Given the description of an element on the screen output the (x, y) to click on. 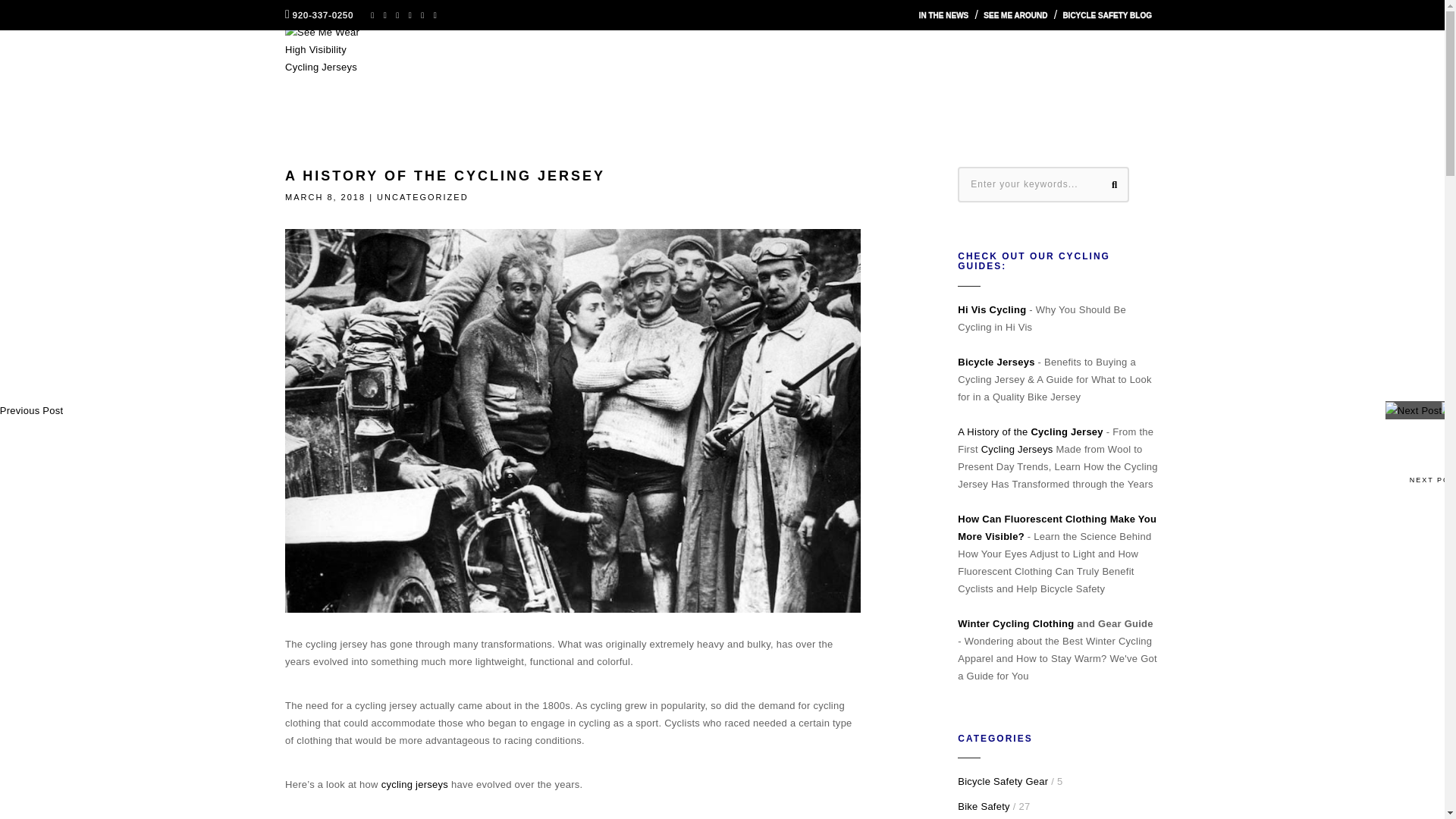
PRODUCTS (599, 52)
TESTIMONIALS (1035, 52)
cycling jerseys (414, 784)
SEE ME AROUND (1015, 15)
HI VIS CYCLING (772, 52)
IN THE NEWS (943, 15)
WHY FLUORESCENT? (903, 52)
CONTACT (1132, 52)
UNCATEGORIZED (422, 196)
ABOUT (679, 52)
